Given the description of an element on the screen output the (x, y) to click on. 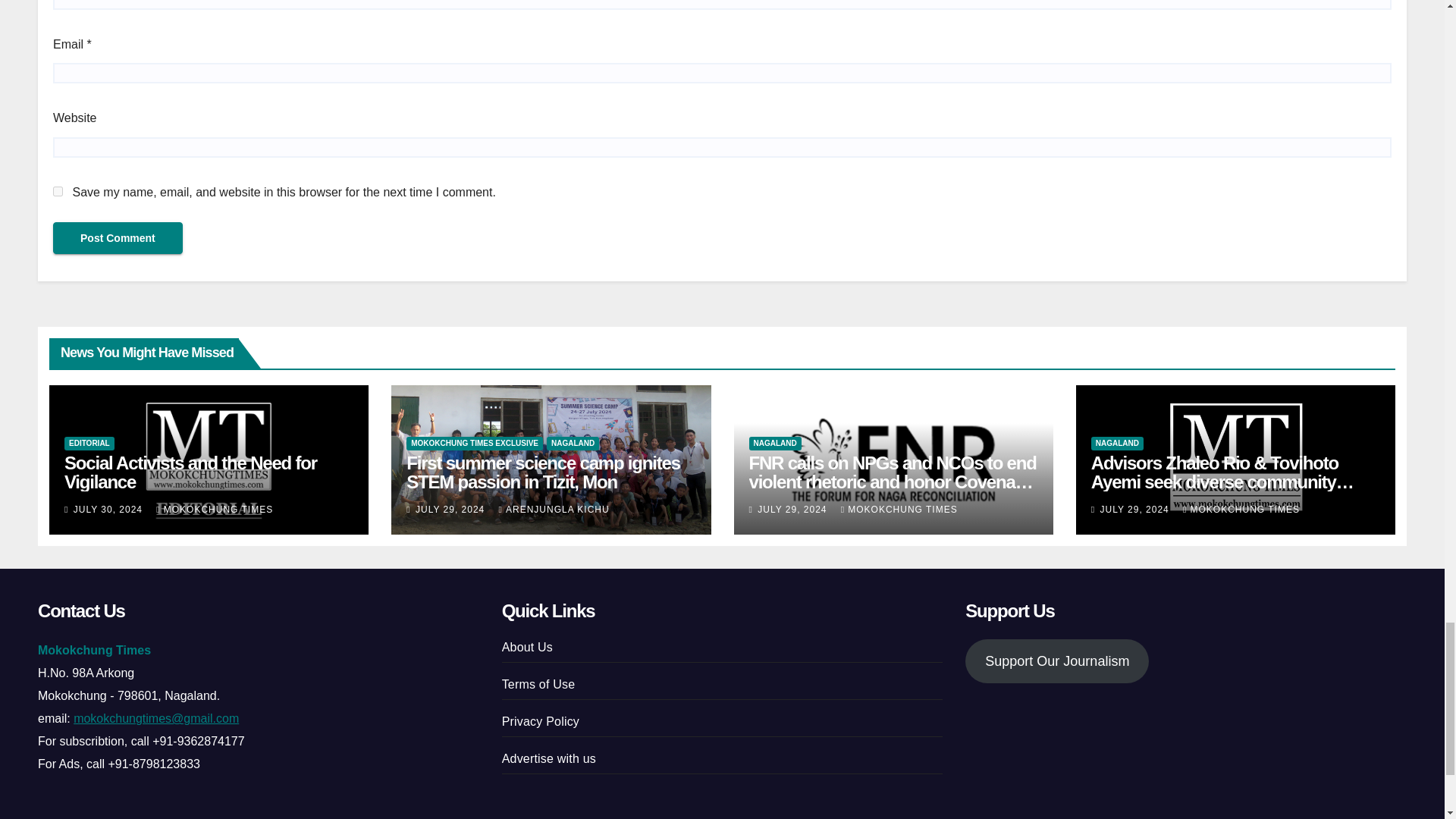
yes (57, 191)
Post Comment (117, 237)
